Given the description of an element on the screen output the (x, y) to click on. 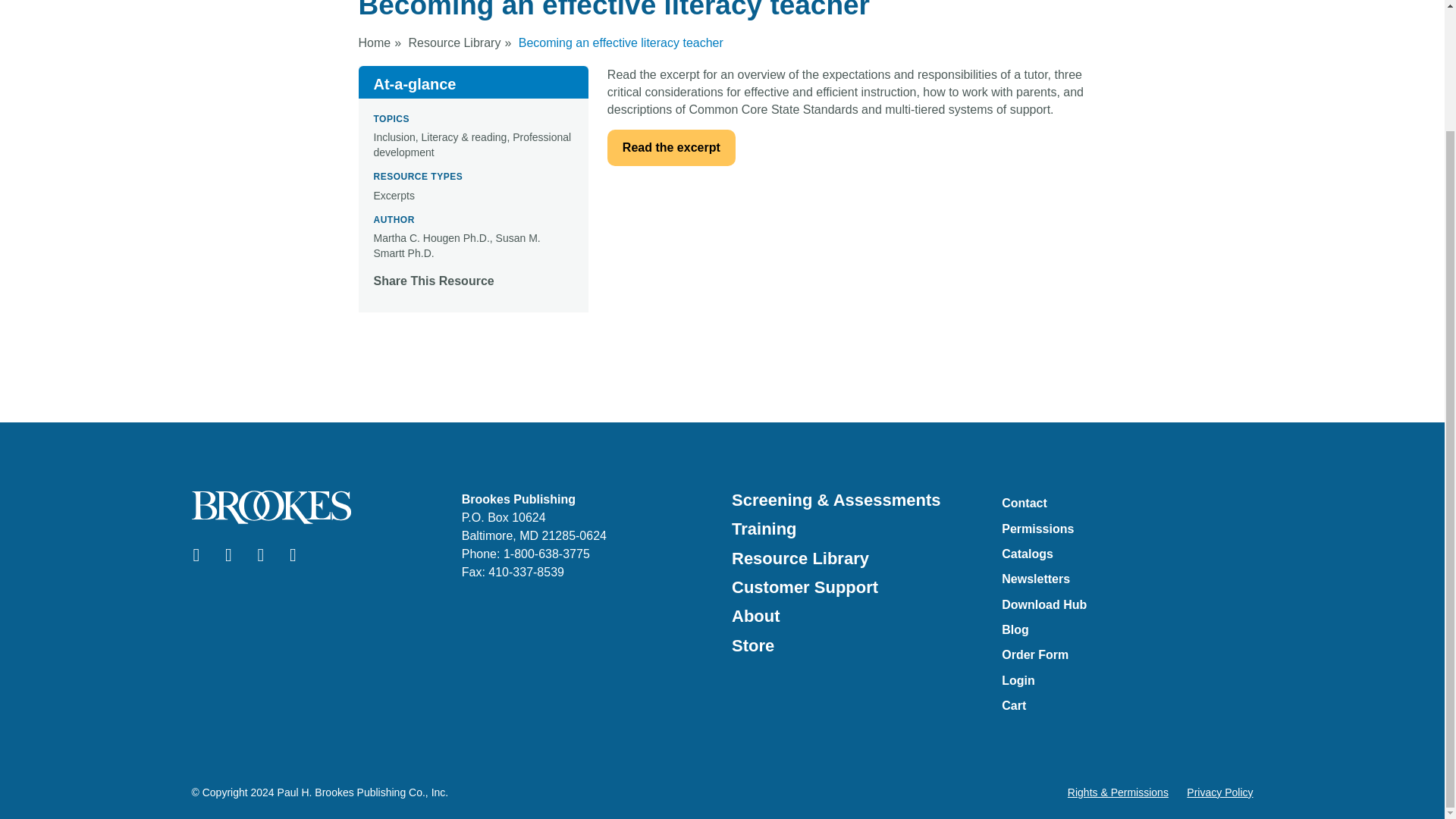
Go to Becoming an effective literacy teacher. (620, 42)
Go to Resource Library. (454, 42)
Go to Brookes Publishing Co.. (374, 42)
